Given the description of an element on the screen output the (x, y) to click on. 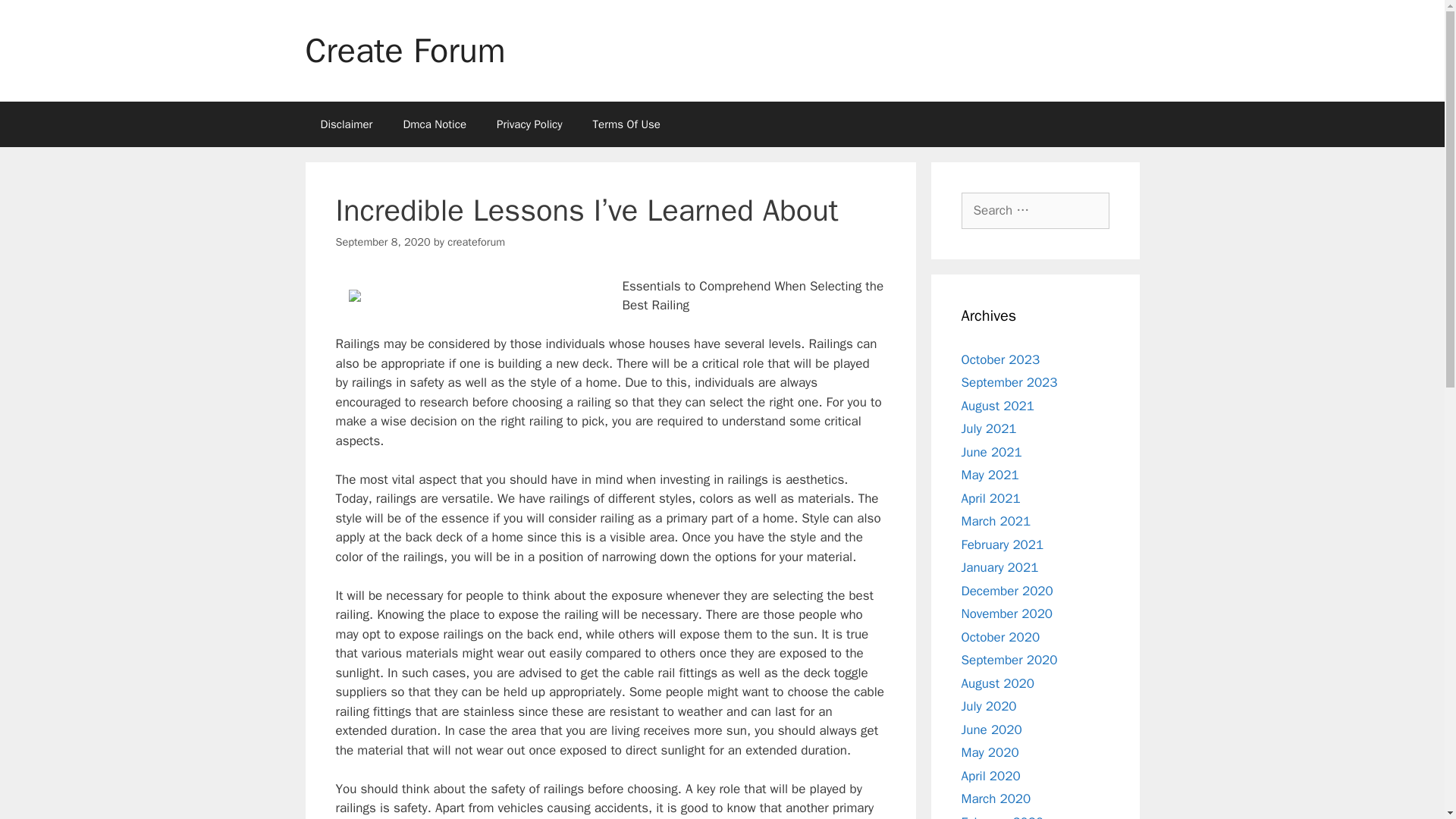
Disclaimer (345, 124)
Privacy Policy (529, 124)
December 2020 (1006, 590)
March 2020 (995, 798)
February 2021 (1001, 544)
July 2021 (988, 428)
June 2021 (991, 452)
January 2021 (999, 567)
August 2021 (996, 405)
Terms Of Use (626, 124)
November 2020 (1006, 613)
August 2020 (996, 682)
Create Forum (404, 50)
July 2020 (988, 706)
Search for: (1034, 210)
